Given the description of an element on the screen output the (x, y) to click on. 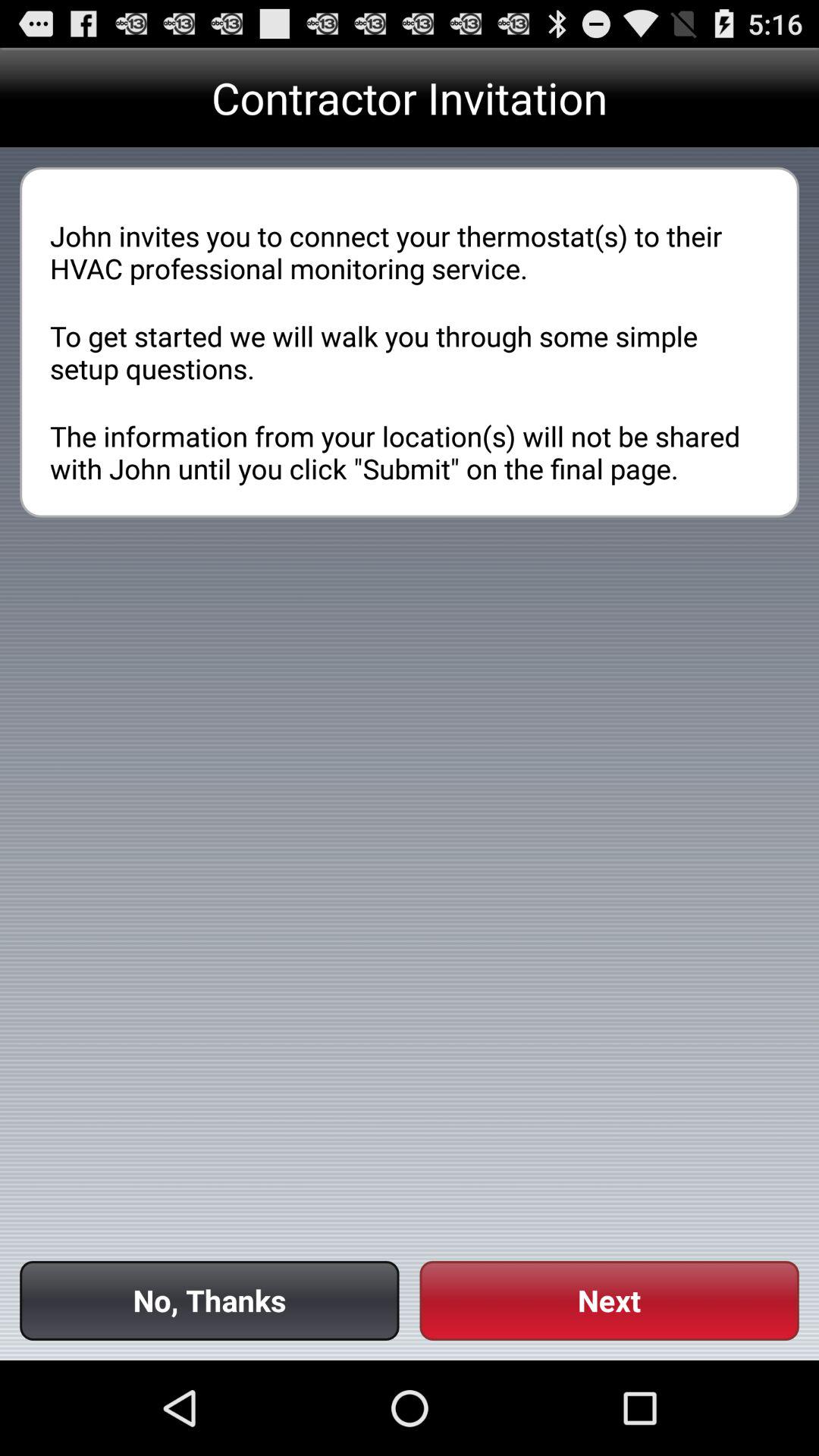
scroll to no, thanks item (209, 1300)
